Given the description of an element on the screen output the (x, y) to click on. 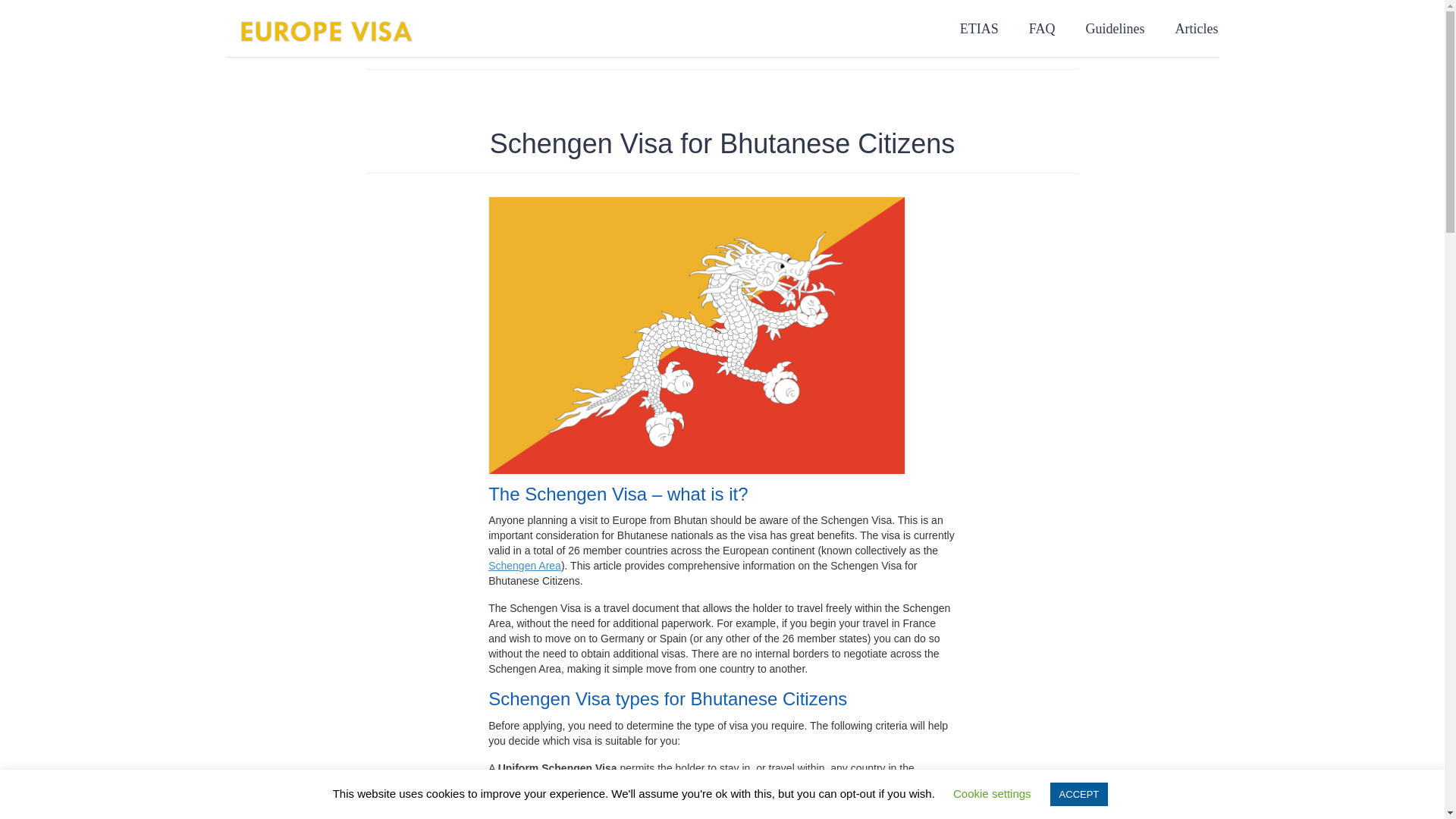
Cookie settings (991, 793)
FAQ (1041, 27)
ETIAS (978, 27)
ACCEPT (1078, 793)
Guidelines (1114, 27)
Articles (1195, 27)
Schengen Area (523, 565)
